Given the description of an element on the screen output the (x, y) to click on. 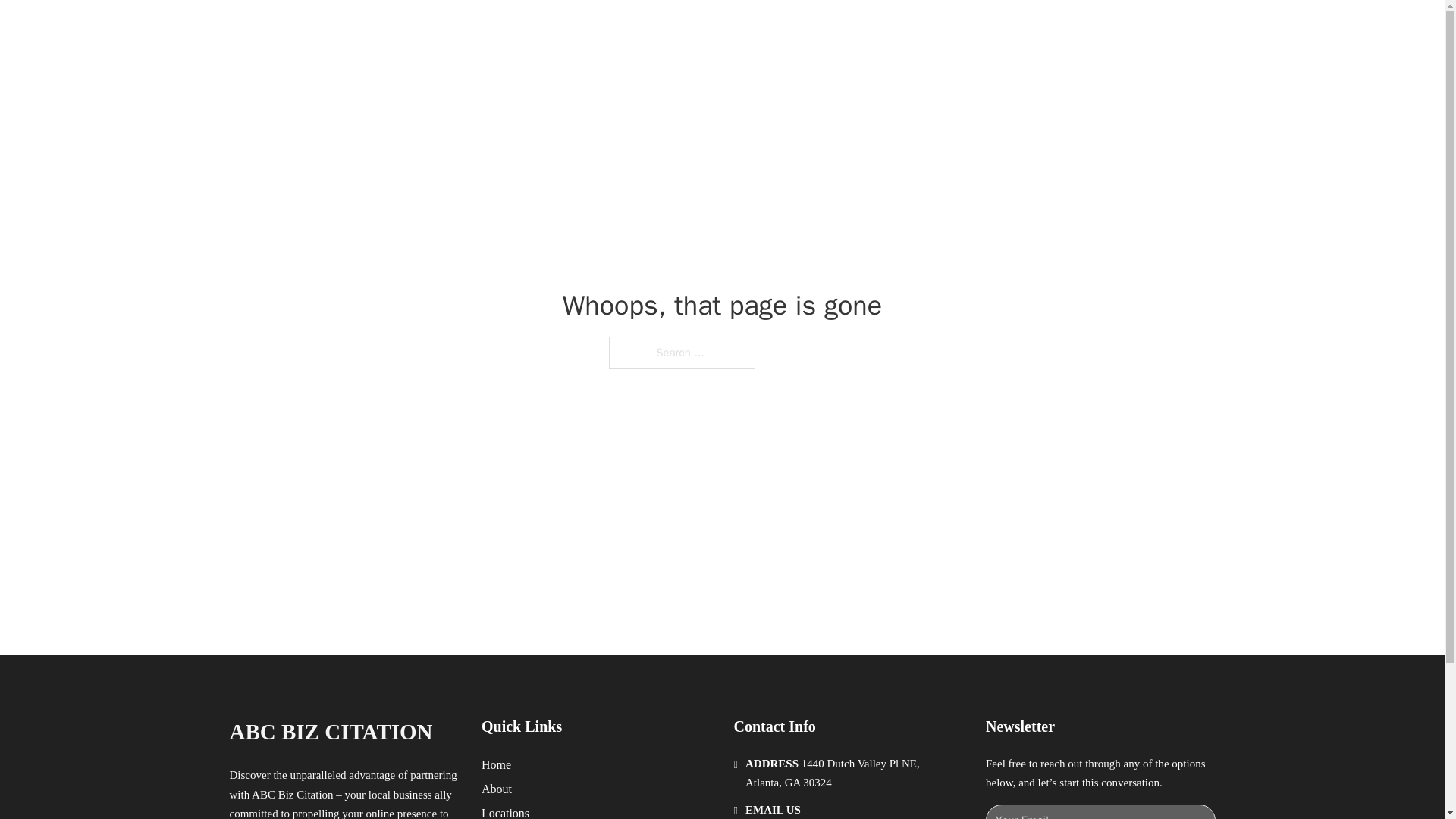
LOCATIONS (978, 29)
Locations (505, 811)
About (496, 788)
ABC BIZ CITATION (400, 28)
Home (496, 764)
HOME (907, 29)
ABC BIZ CITATION (330, 732)
